Given the description of an element on the screen output the (x, y) to click on. 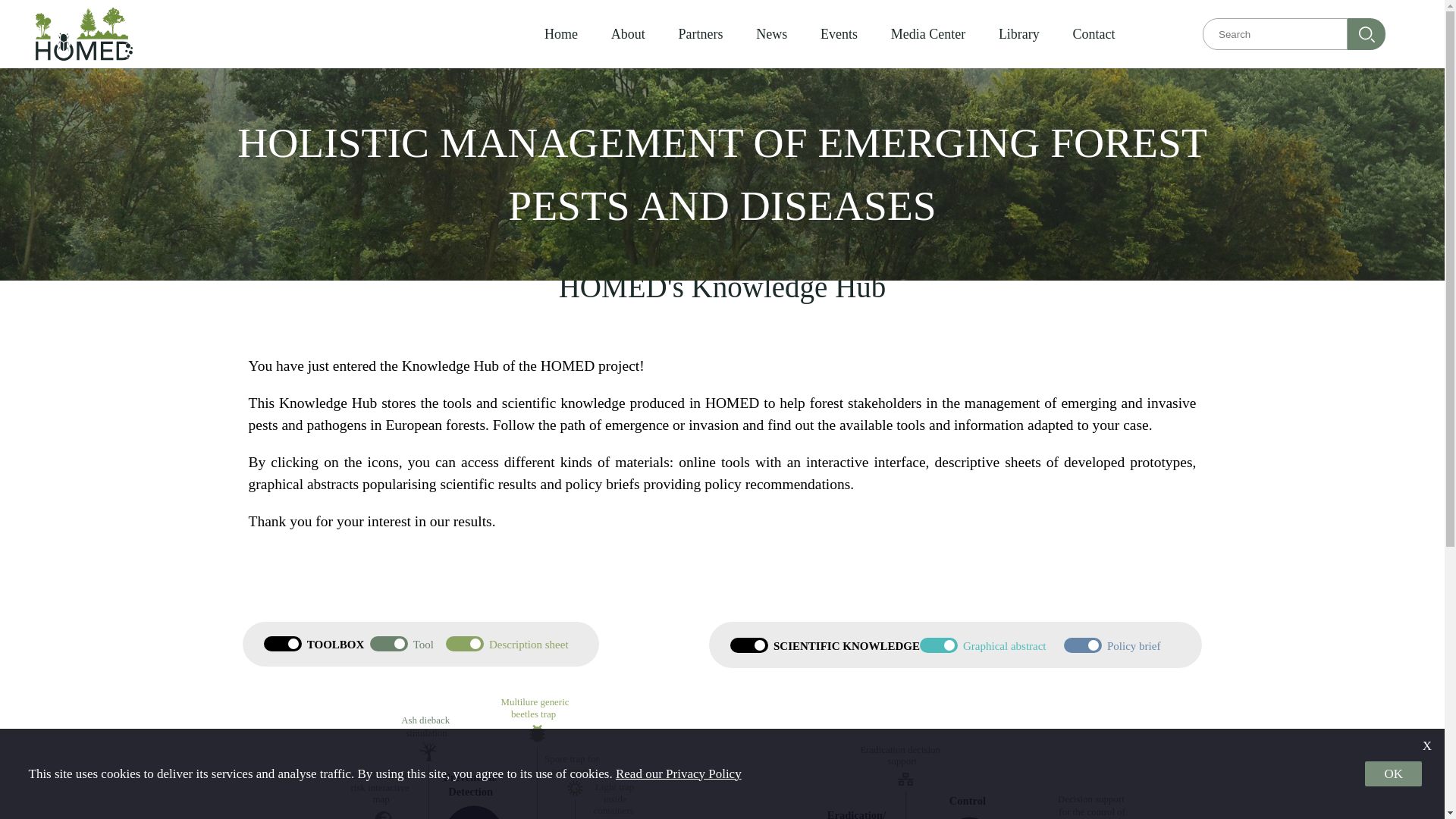
Light-trap-inside-containers (614, 800)
Events (839, 32)
Media Center (928, 32)
Partners (700, 32)
OK (1393, 773)
Outbreak-prediction-model (347, 818)
Contact (1094, 32)
Library (1018, 32)
Multilure-generic-beatles-trap (537, 720)
Spore-trap-for-pathogens (574, 774)
About (628, 32)
News (771, 32)
Ash-dieback-simulation (428, 737)
Establishment-risk-interactive-map (381, 791)
Eradication-decision-support (904, 764)
